Given the description of an element on the screen output the (x, y) to click on. 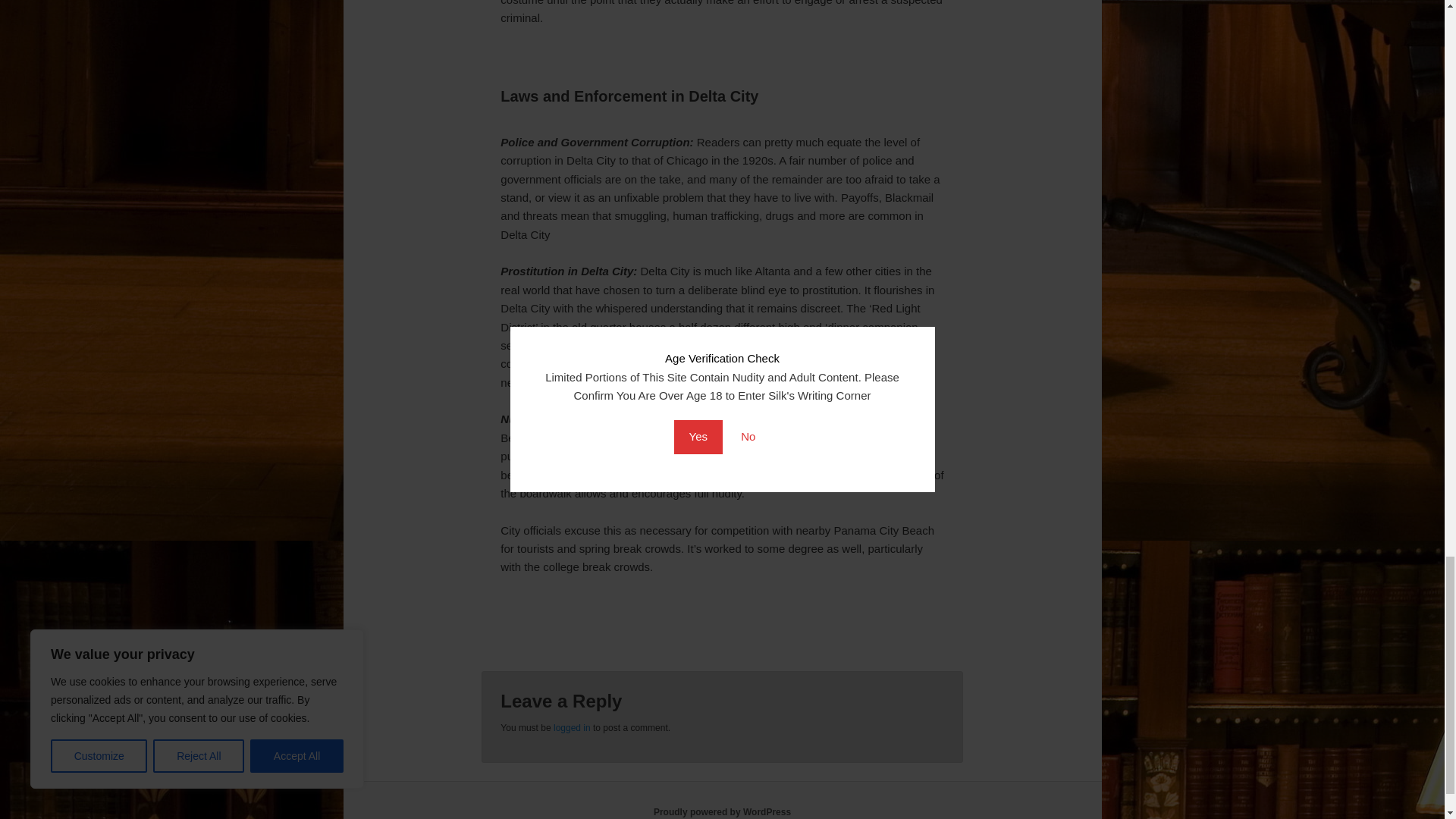
logged in (572, 727)
Semantic Personal Publishing Platform (721, 811)
Proudly powered by WordPress (721, 811)
